Given the description of an element on the screen output the (x, y) to click on. 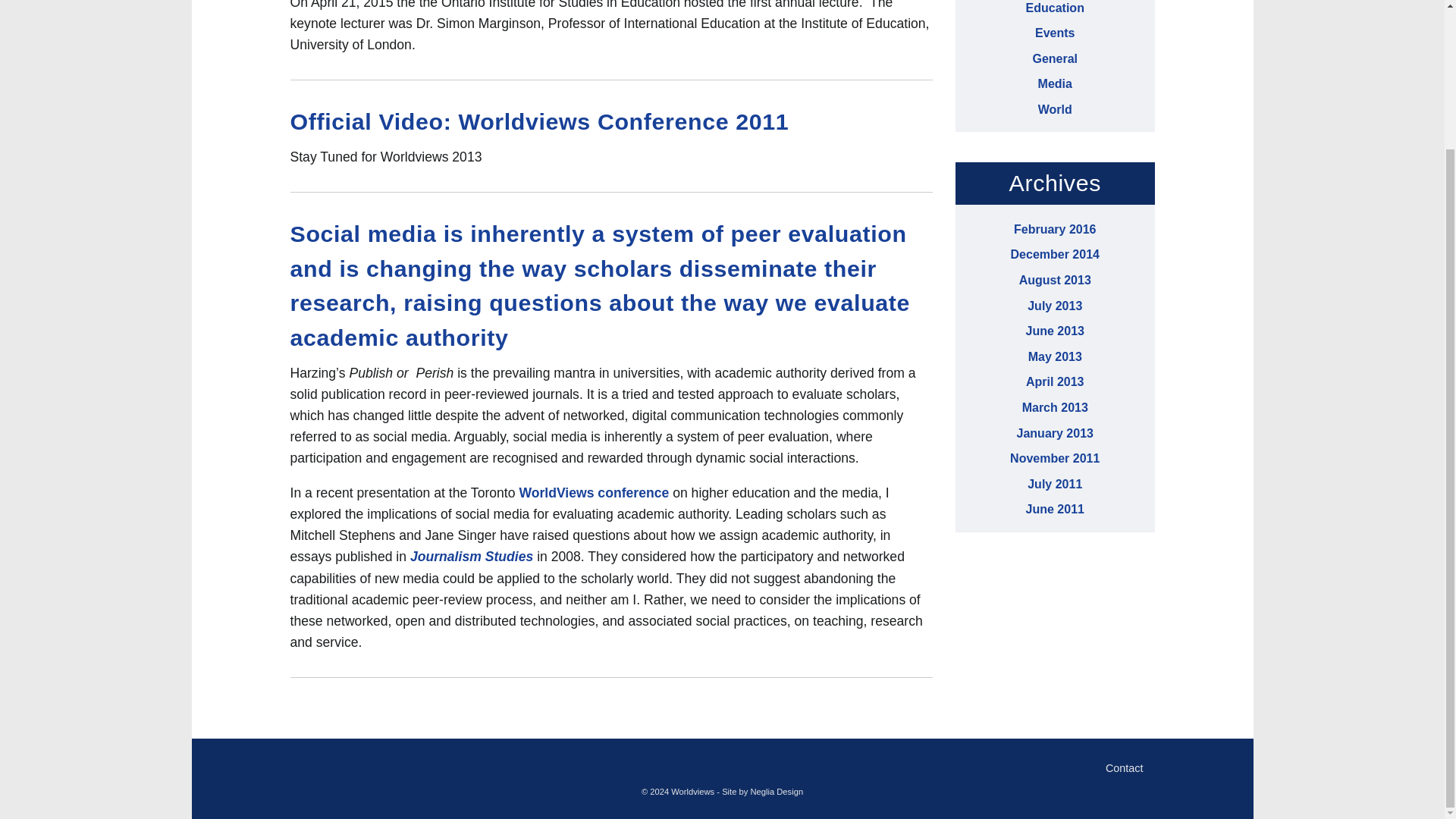
November 2011 (1054, 458)
December 2014 (1054, 254)
February 2016 (1054, 228)
August 2013 (1054, 279)
July 2011 (1054, 483)
Contact (1121, 768)
Events (1054, 32)
April 2013 (1054, 381)
Media (1054, 83)
